Given the description of an element on the screen output the (x, y) to click on. 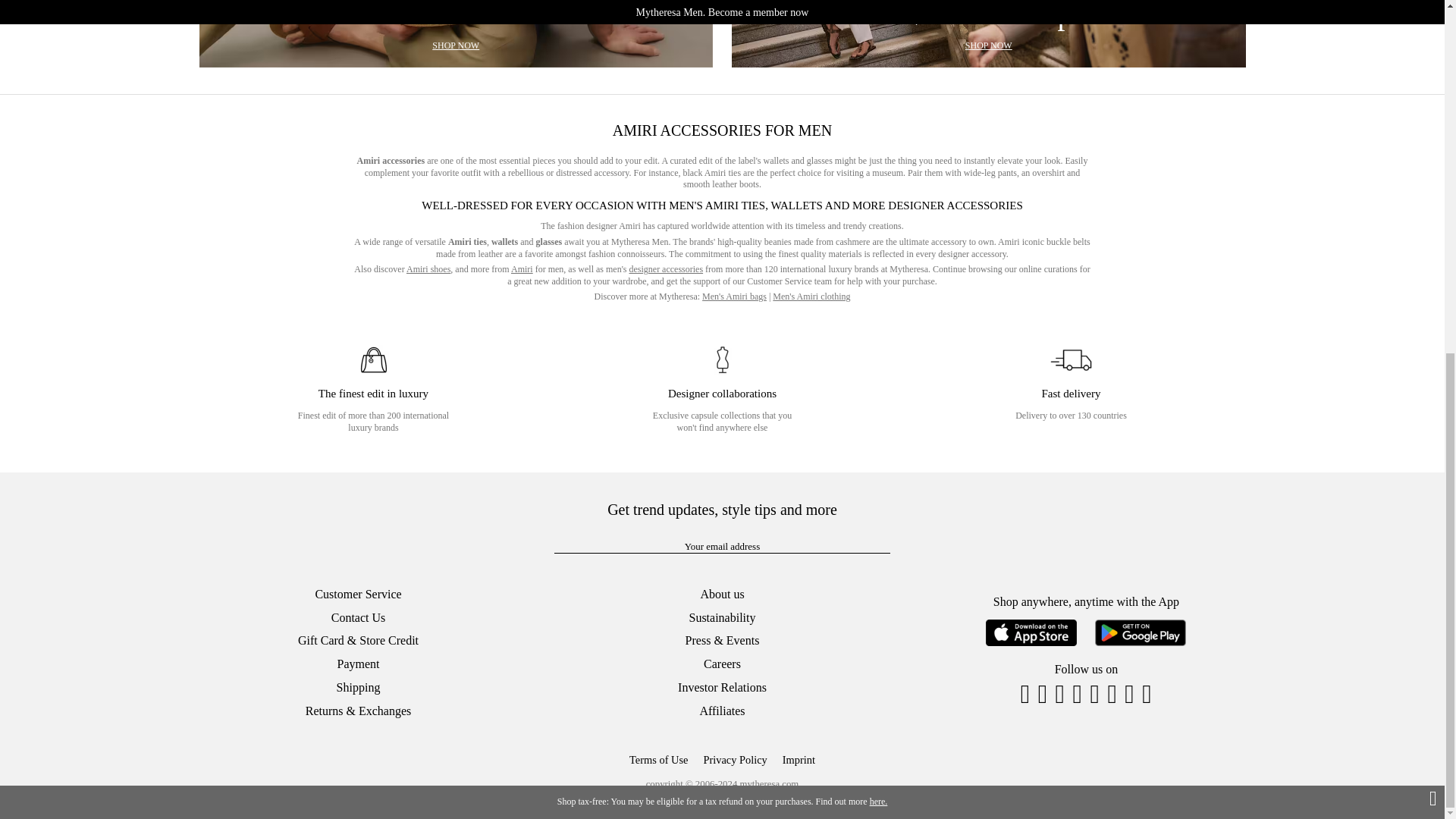
Amiri (455, 33)
Amiri shoes (521, 268)
